Given the description of an element on the screen output the (x, y) to click on. 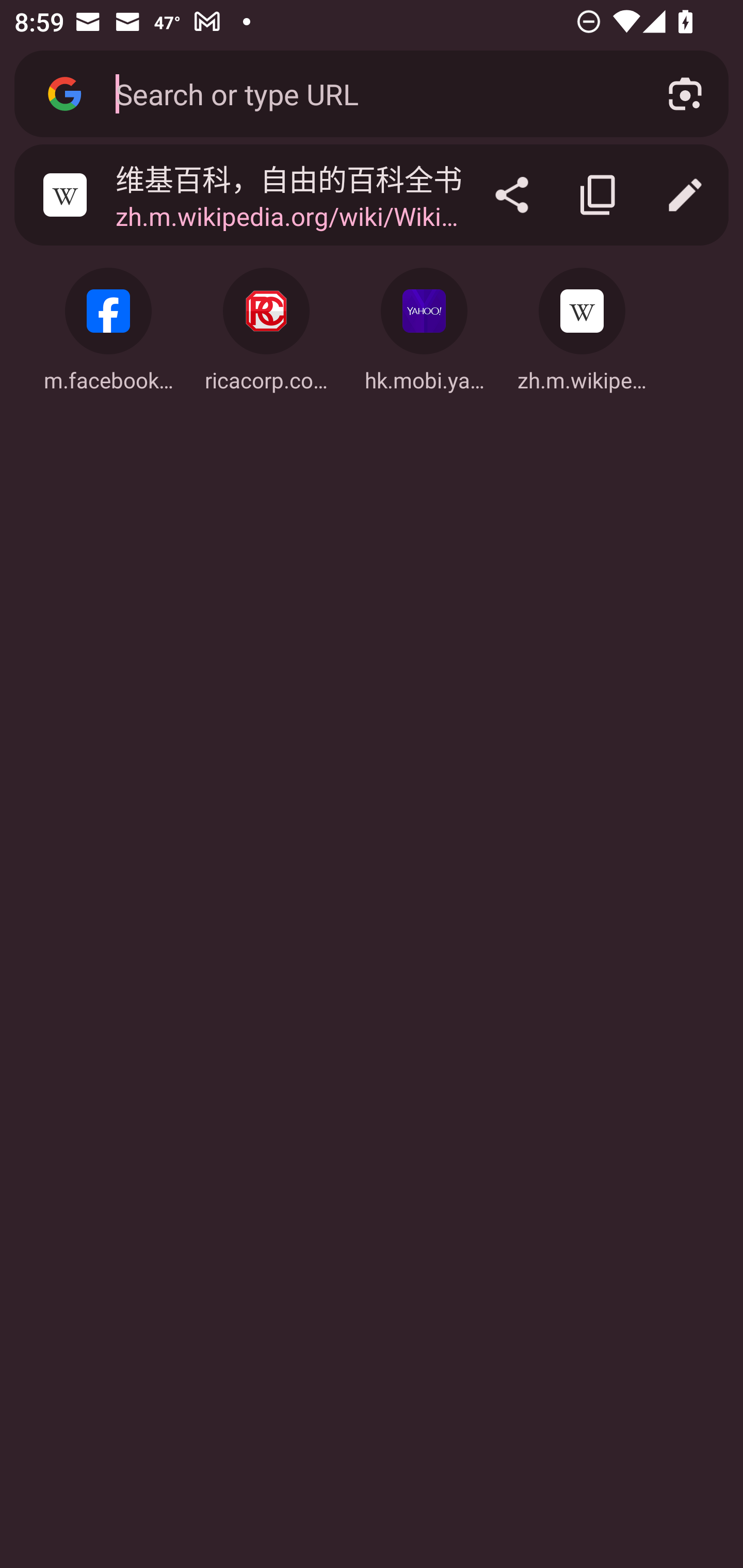
Search with your camera using Google Lens (684, 93)
Search or type URL (367, 92)
Share… (511, 195)
Copy link (598, 195)
Edit (684, 195)
